Given the description of an element on the screen output the (x, y) to click on. 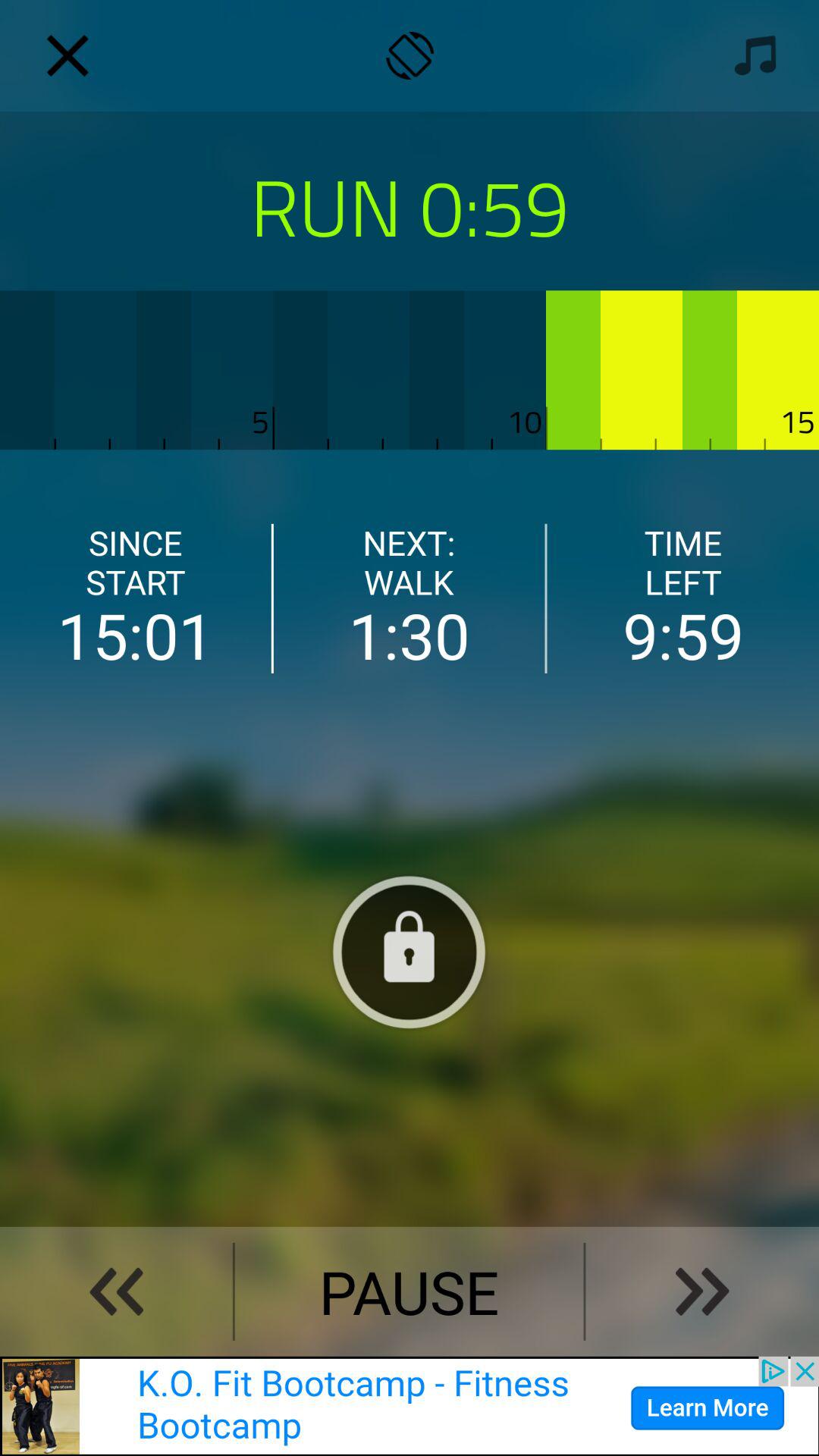
go to next option (702, 1291)
